Given the description of an element on the screen output the (x, y) to click on. 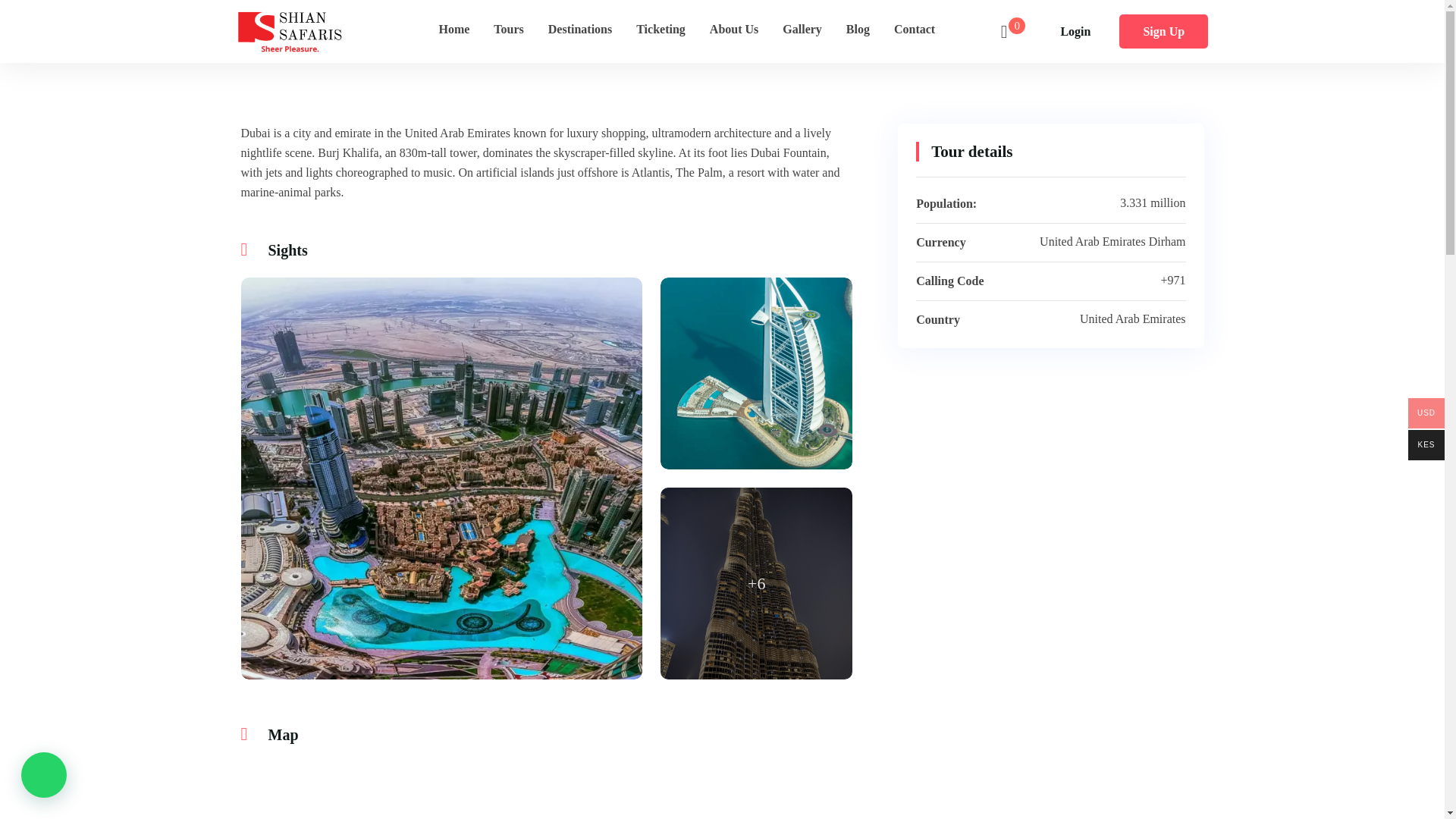
Home (453, 29)
Login (1074, 31)
2 (756, 583)
Ticketing (660, 29)
Contact (914, 29)
About Us (733, 29)
Blog (858, 29)
Gallery (802, 29)
Sign Up (1163, 31)
About Us (733, 29)
Blog (858, 29)
1 (756, 373)
Home (453, 29)
Tours (508, 29)
